Given the description of an element on the screen output the (x, y) to click on. 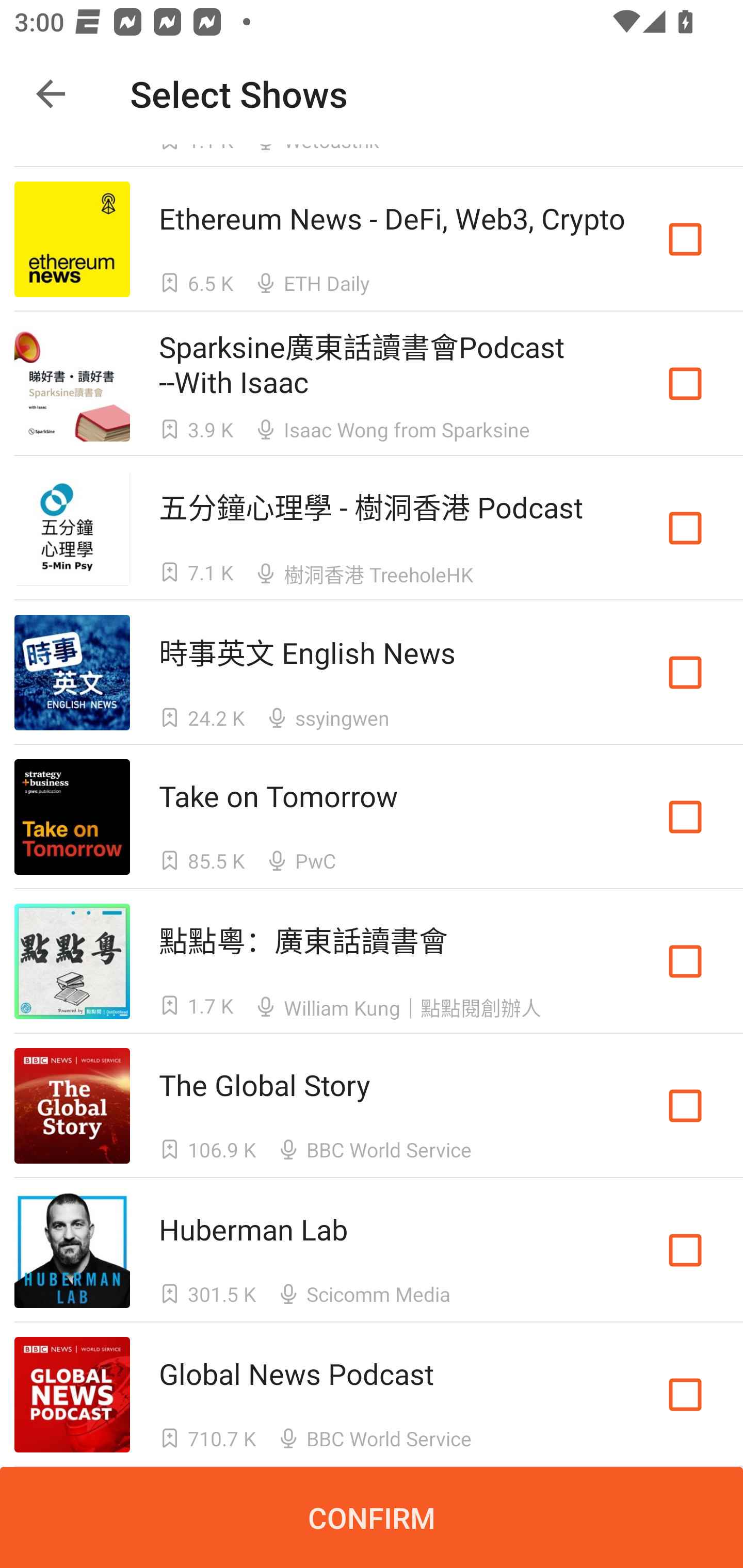
Navigate up (50, 93)
Take on Tomorrow Take on Tomorrow  85.5 K  PwC (371, 816)
CONFIRM (371, 1517)
